Given the description of an element on the screen output the (x, y) to click on. 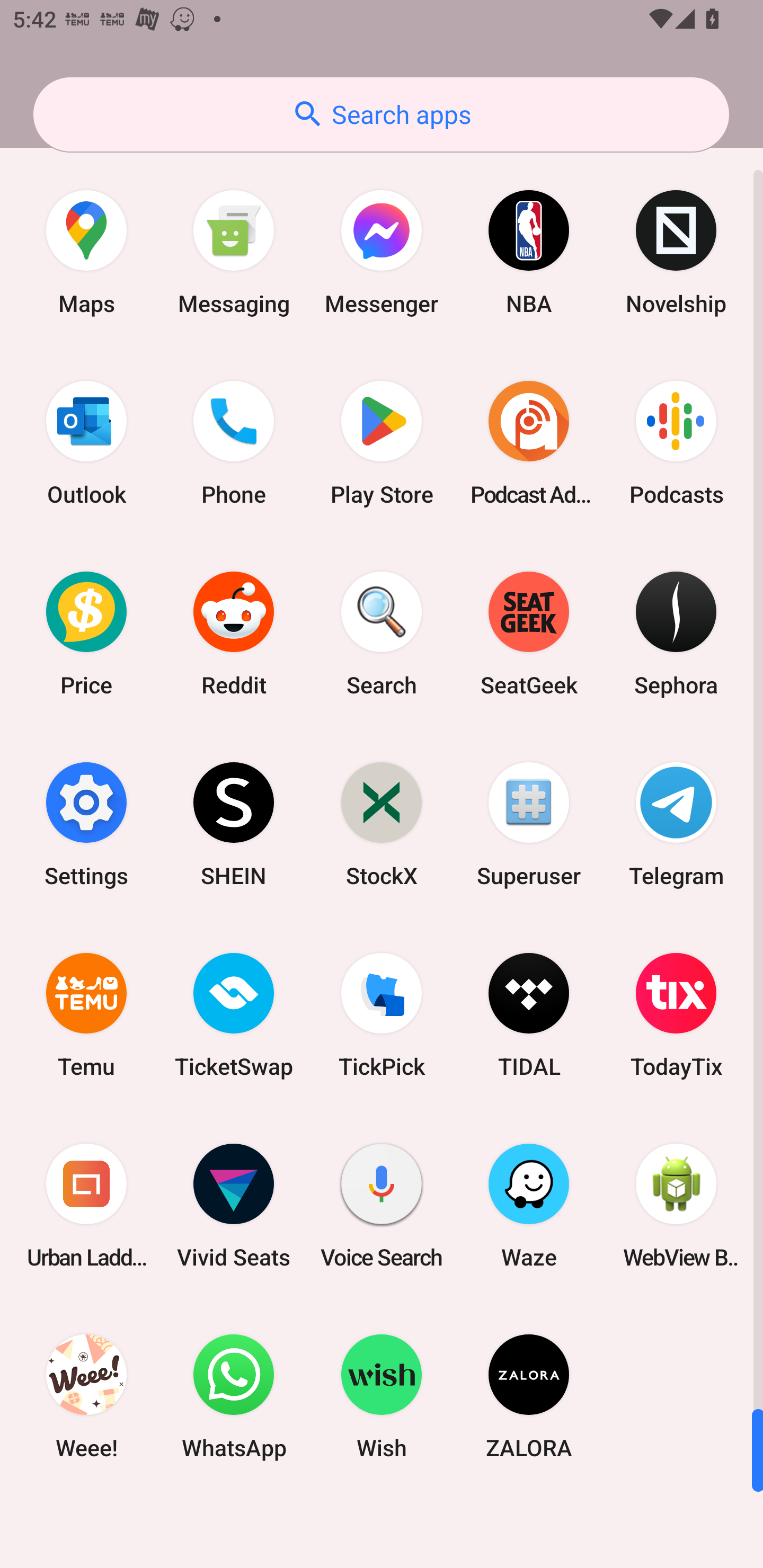
  Search apps (381, 114)
Maps (86, 252)
Messaging (233, 252)
Messenger (381, 252)
NBA (528, 252)
Novelship (676, 252)
Outlook (86, 442)
Phone (233, 442)
Play Store (381, 442)
Podcast Addict (528, 442)
Podcasts (676, 442)
Price (86, 633)
Reddit (233, 633)
Search (381, 633)
SeatGeek (528, 633)
Sephora (676, 633)
Settings (86, 823)
SHEIN (233, 823)
StockX (381, 823)
Superuser (528, 823)
Telegram (676, 823)
Temu (86, 1014)
TicketSwap (233, 1014)
TickPick (381, 1014)
TIDAL (528, 1014)
TodayTix (676, 1014)
Urban Ladder (86, 1205)
Vivid Seats (233, 1205)
Voice Search (381, 1205)
Waze (528, 1205)
WebView Browser Tester (676, 1205)
Weee! (86, 1396)
WhatsApp (233, 1396)
Wish (381, 1396)
ZALORA (528, 1396)
